Given the description of an element on the screen output the (x, y) to click on. 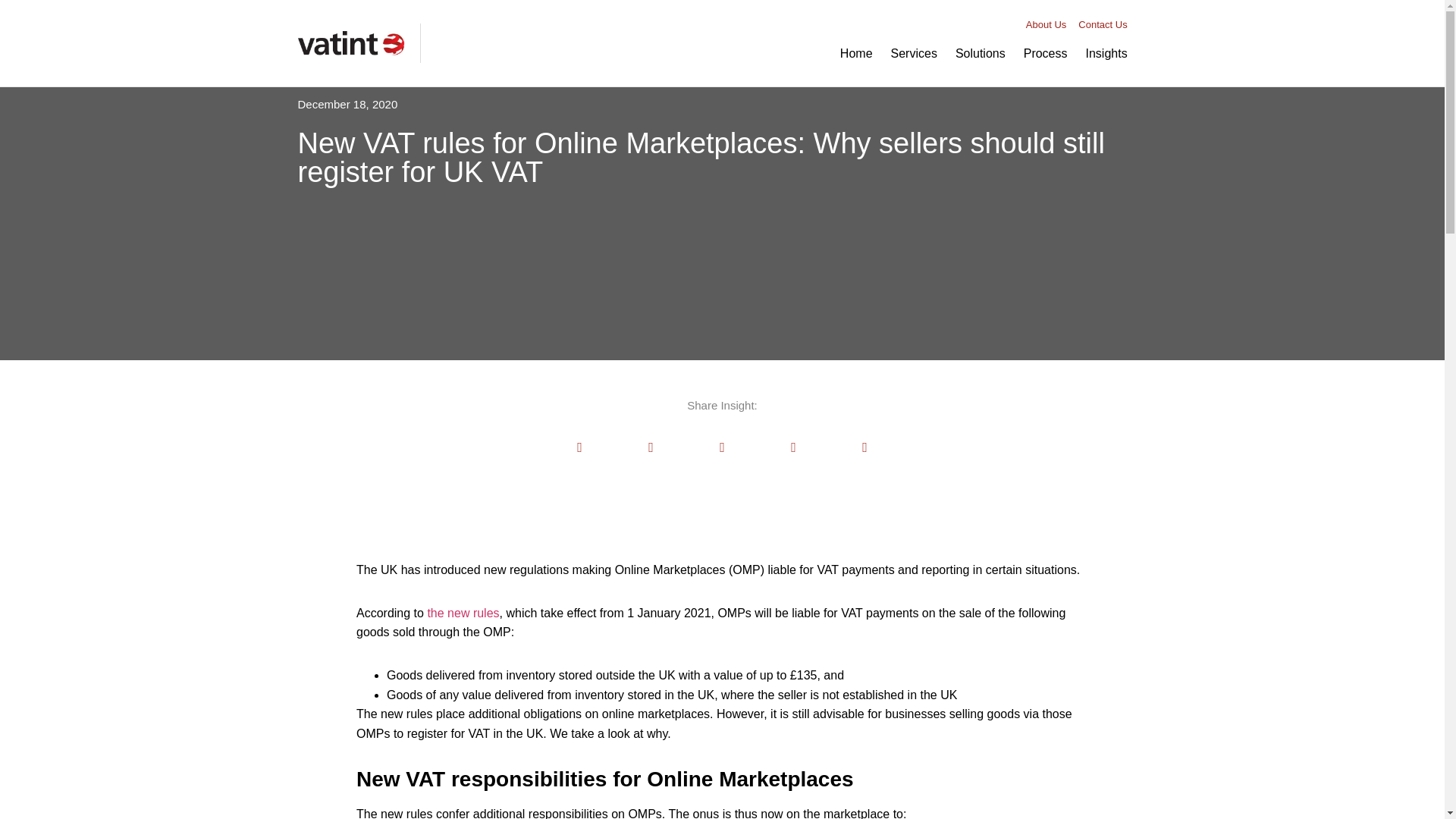
Services (914, 53)
Insights (1107, 53)
Home (856, 53)
Process (1045, 53)
About Us (1045, 25)
Solutions (980, 53)
Contact Us (1102, 25)
